Given the description of an element on the screen output the (x, y) to click on. 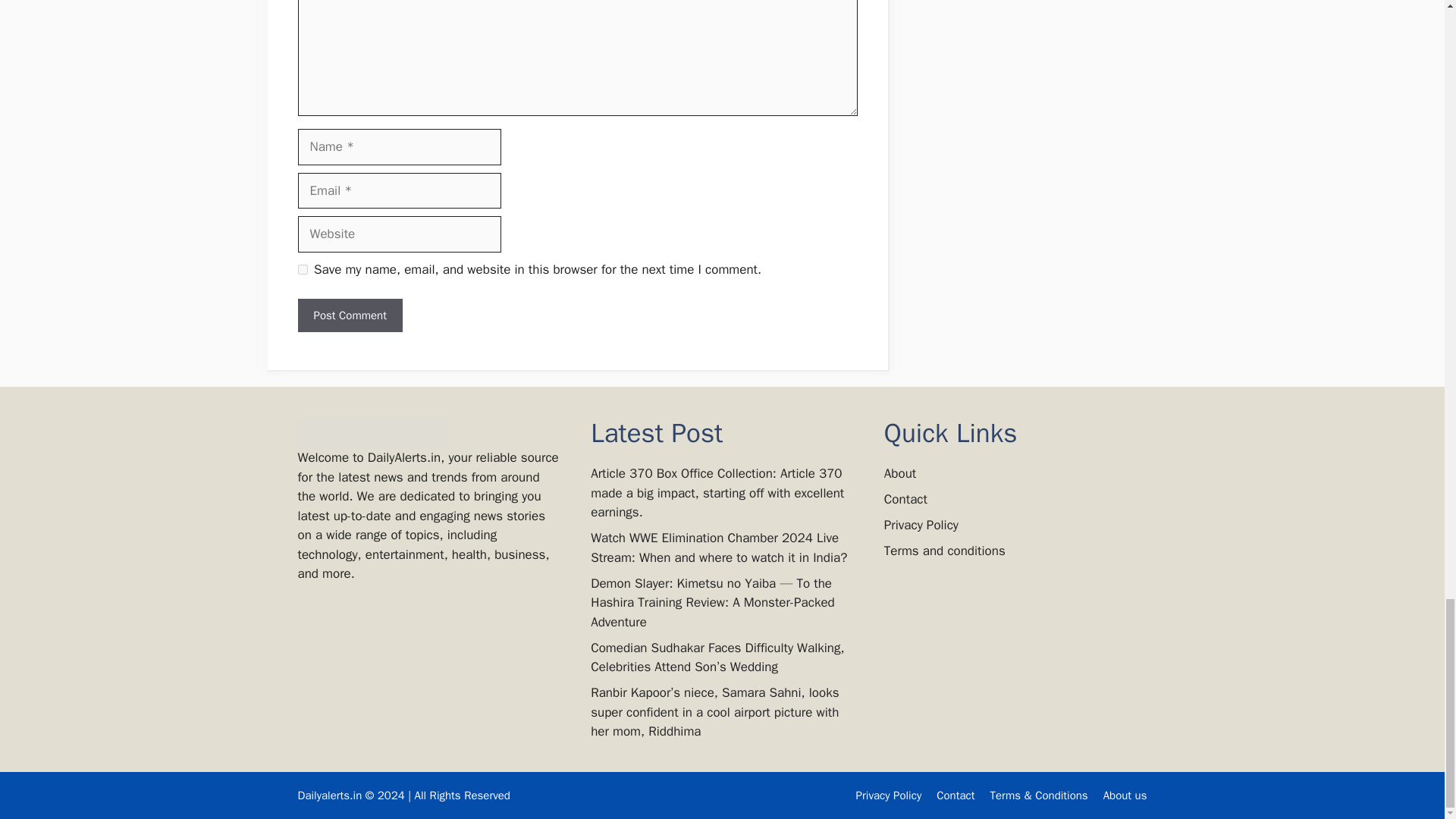
yes (302, 269)
Post Comment (349, 315)
dailyalertlogo (372, 431)
Post Comment (349, 315)
About (899, 473)
